Given the description of an element on the screen output the (x, y) to click on. 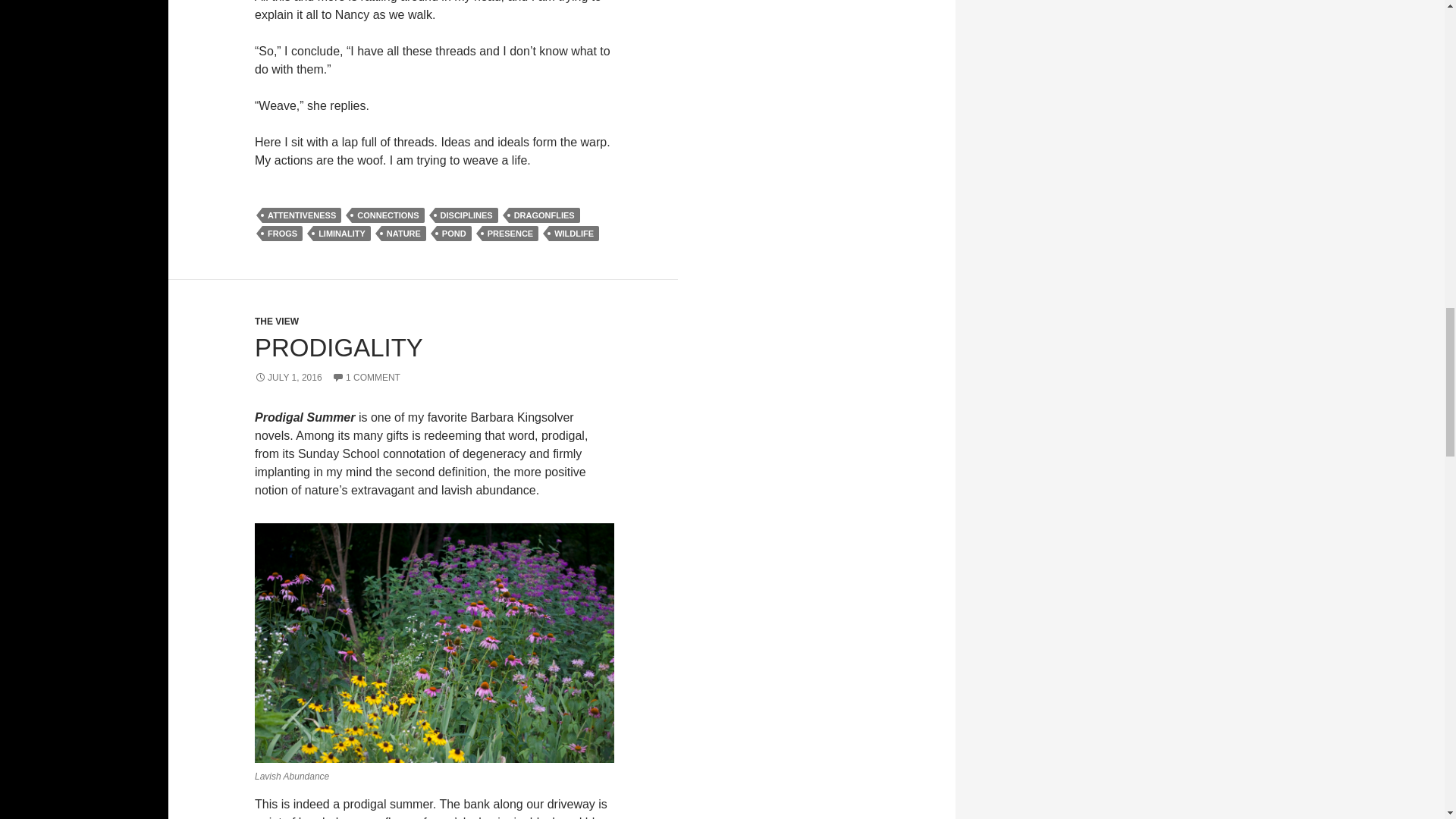
LIMINALITY (342, 233)
DISCIPLINES (466, 215)
DRAGONFLIES (543, 215)
FROGS (282, 233)
ATTENTIVENESS (301, 215)
CONNECTIONS (387, 215)
